Given the description of an element on the screen output the (x, y) to click on. 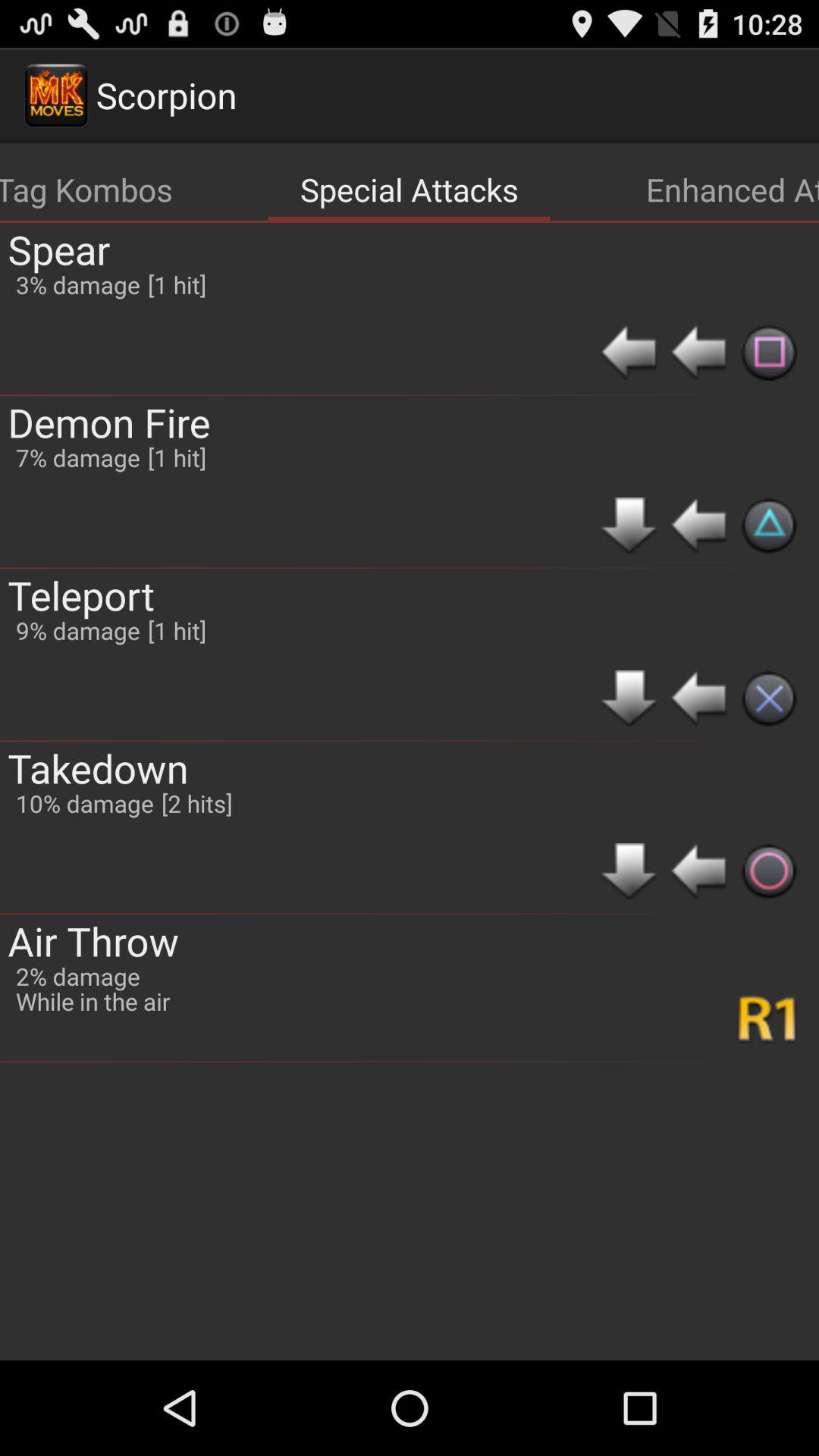
turn off item below [1 hit] icon (196, 803)
